Given the description of an element on the screen output the (x, y) to click on. 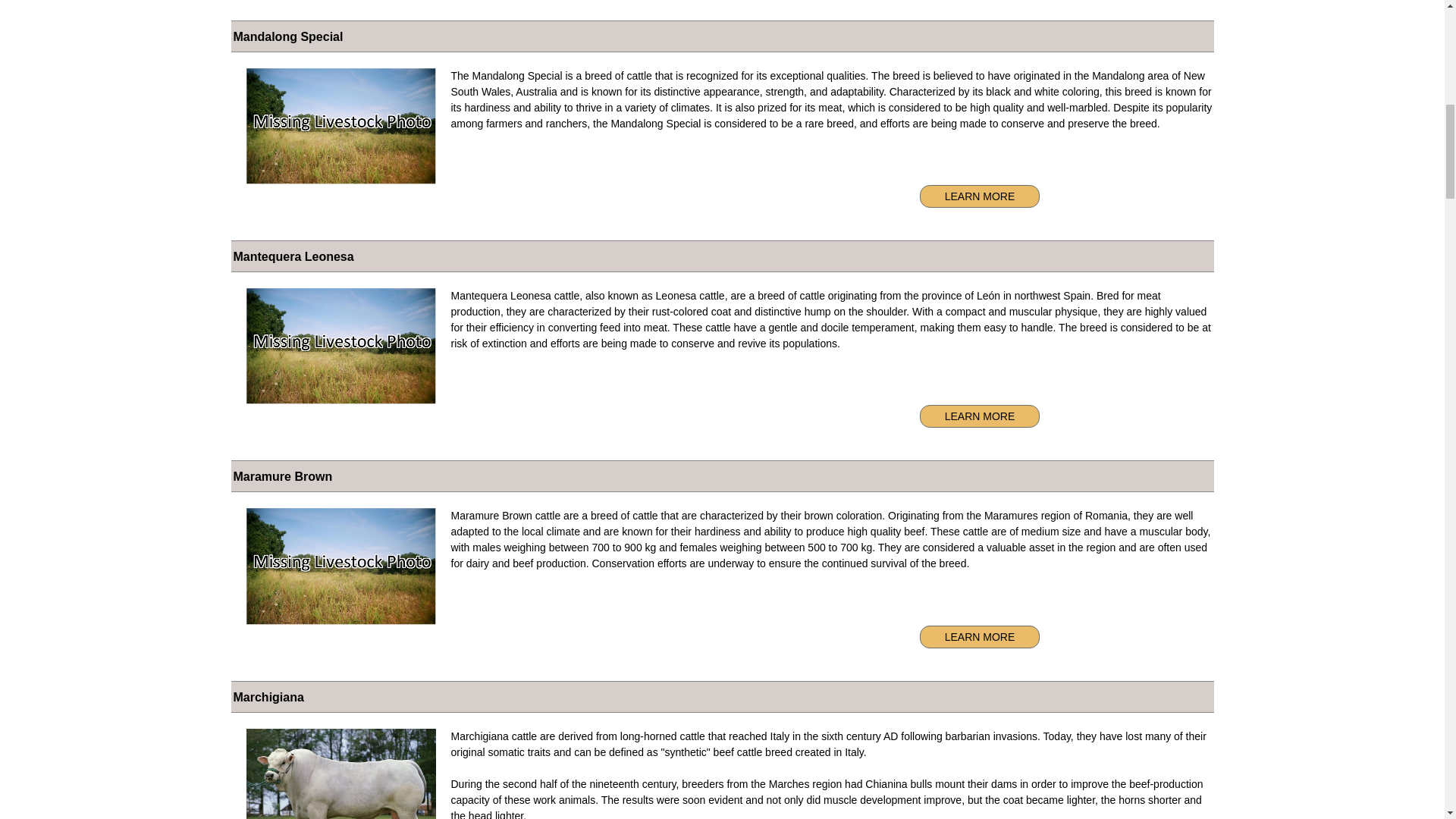
LEARN MORE (980, 196)
LEARN MORE (980, 636)
LEARN MORE (980, 415)
